Given the description of an element on the screen output the (x, y) to click on. 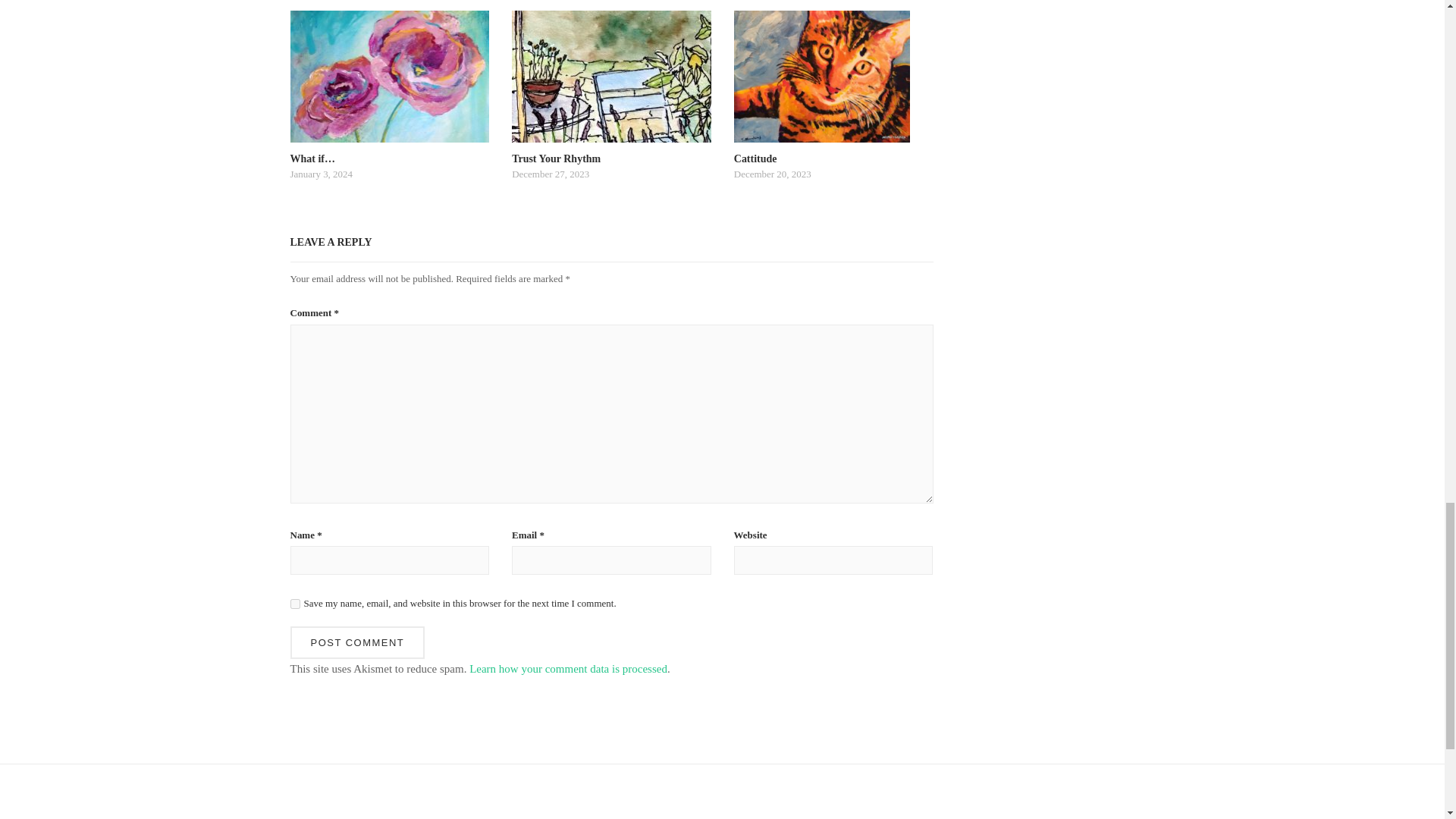
Learn how your comment data is processed (567, 668)
yes (833, 125)
Trust Your Rhythm (294, 603)
Post Comment (611, 125)
Cattitude (357, 642)
Post Comment (611, 125)
